Given the description of an element on the screen output the (x, y) to click on. 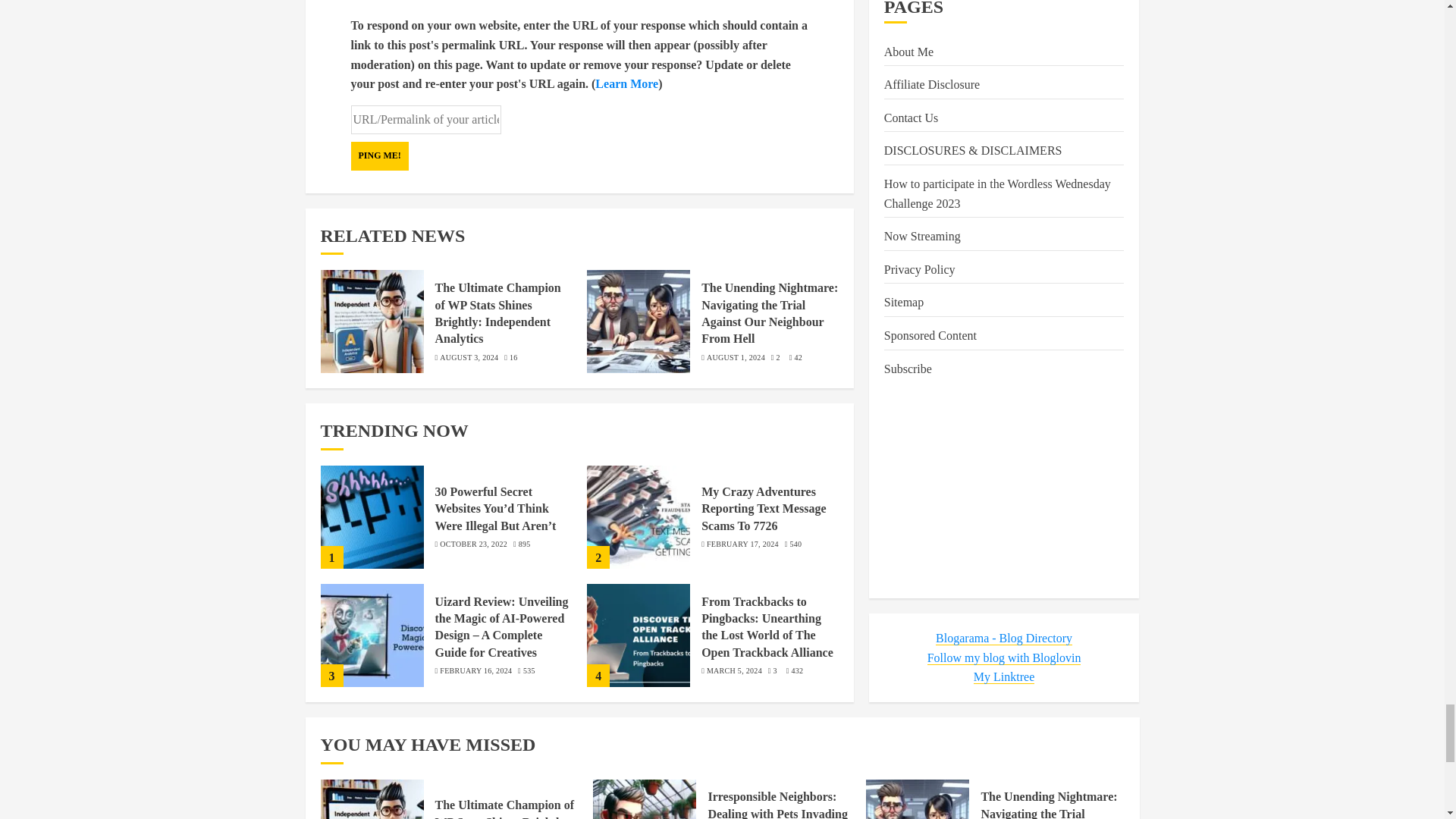
Ping me! (378, 155)
